Given the description of an element on the screen output the (x, y) to click on. 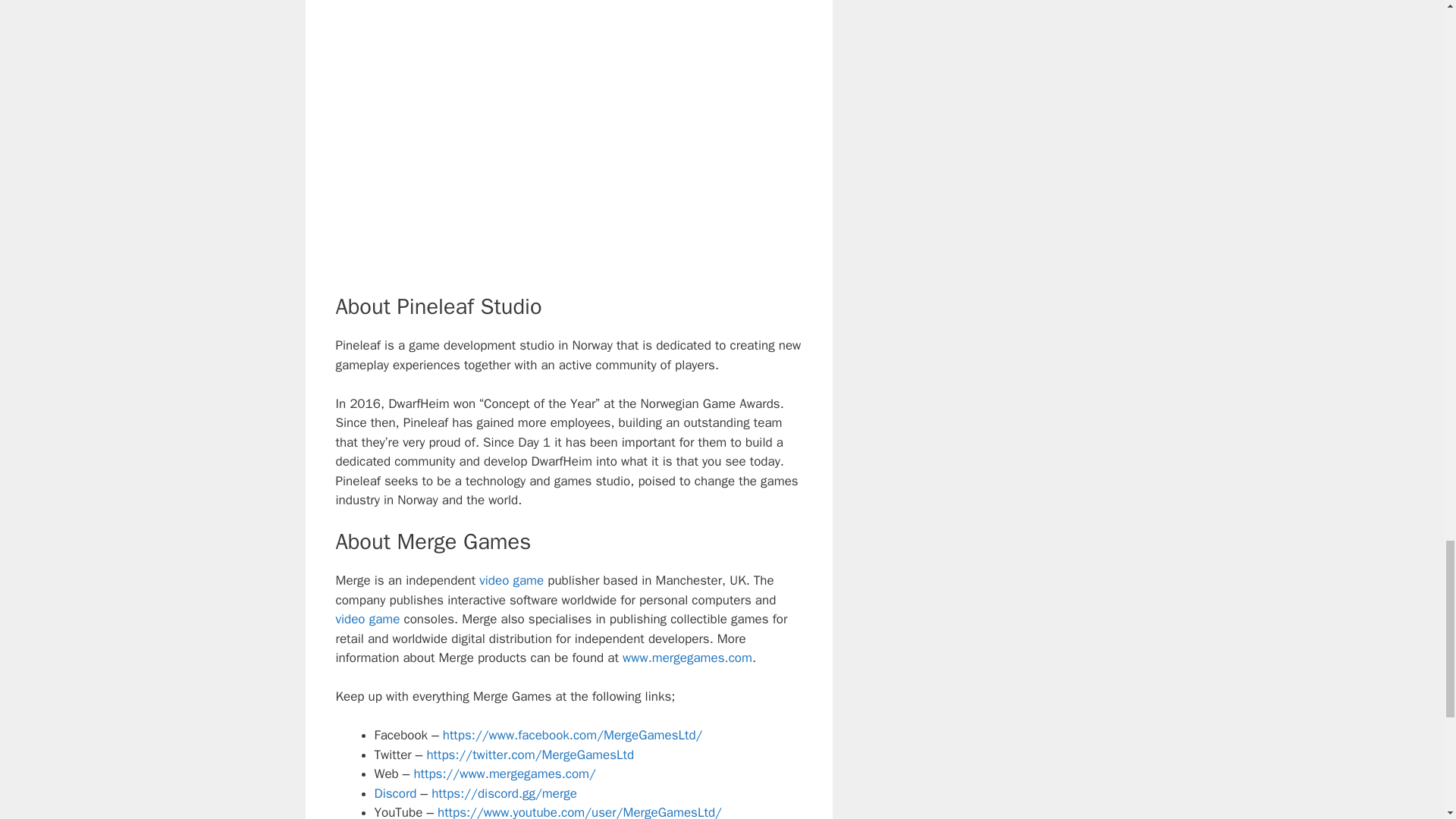
video game (511, 580)
